Given the description of an element on the screen output the (x, y) to click on. 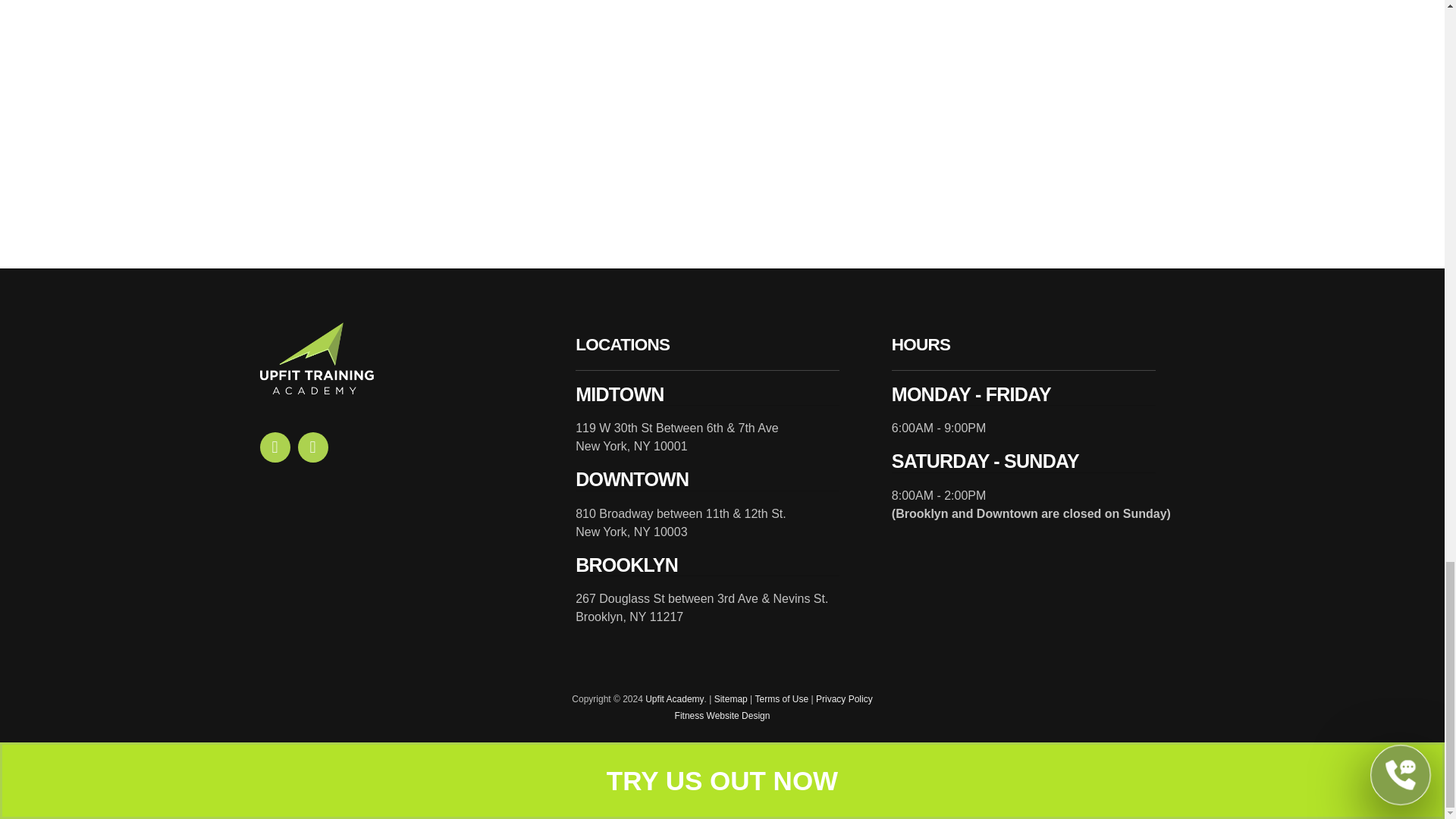
Upfit Academy (674, 698)
